Given the description of an element on the screen output the (x, y) to click on. 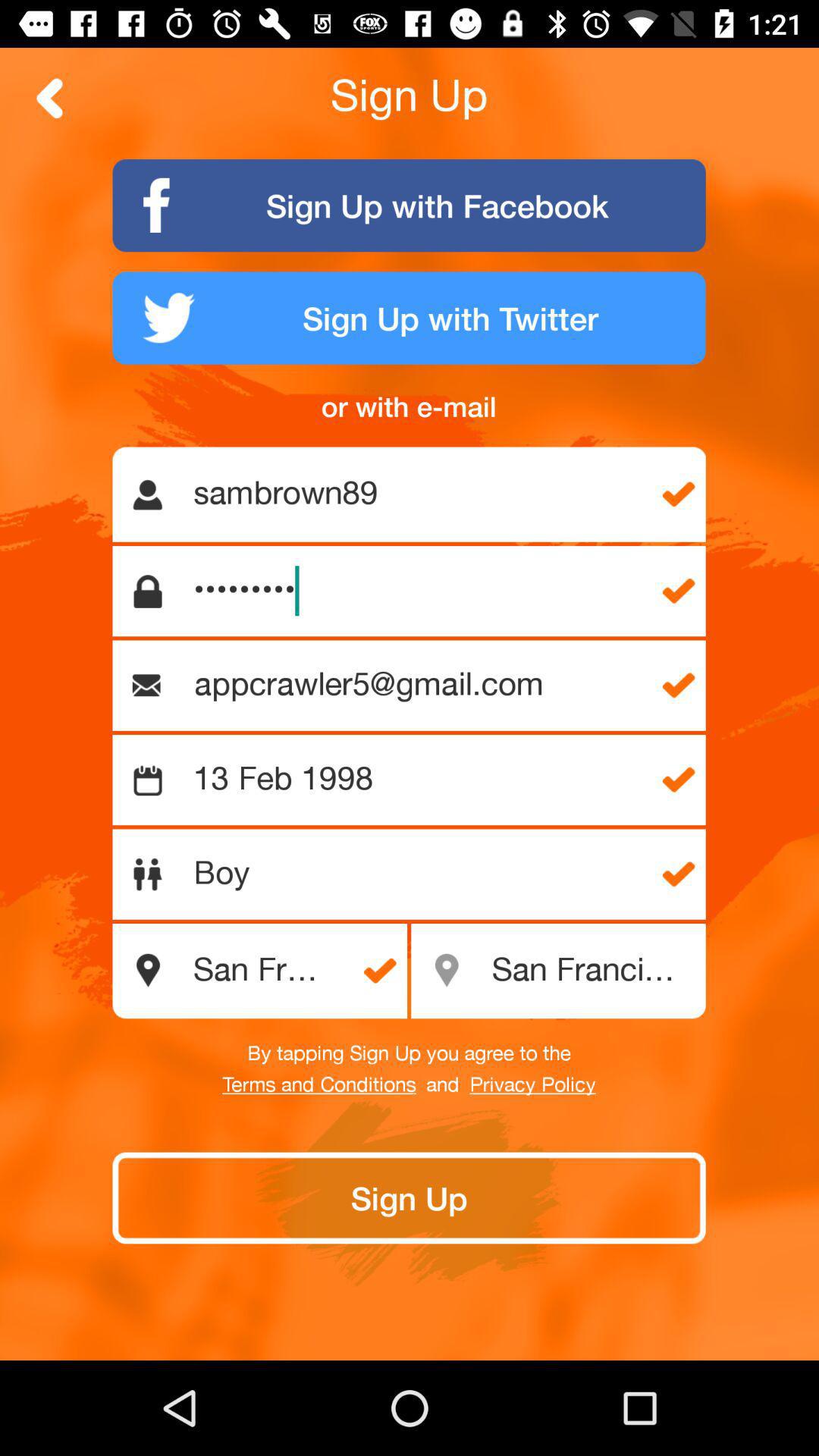
back (50, 98)
